Given the description of an element on the screen output the (x, y) to click on. 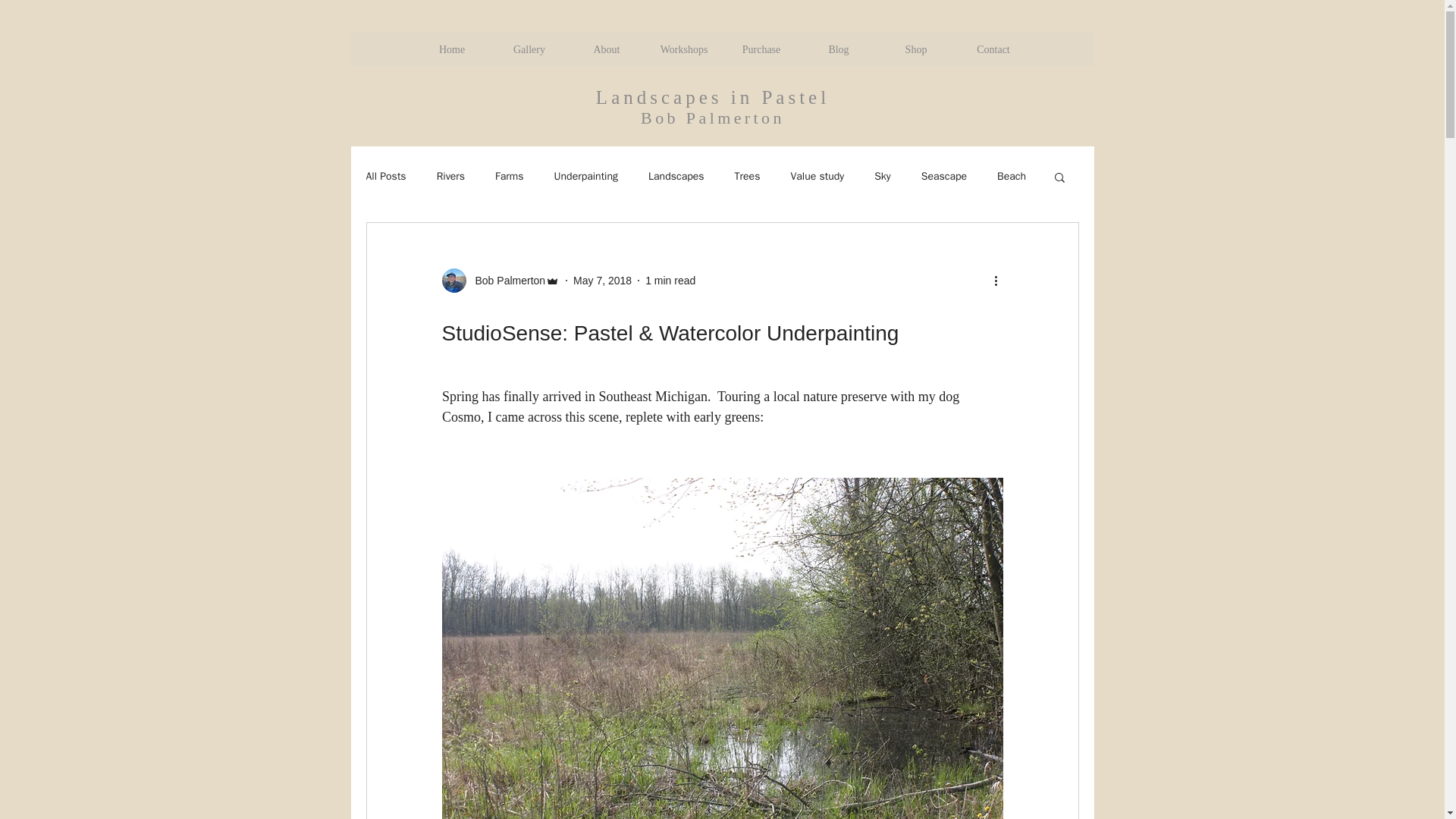
Shop (914, 49)
Sky (883, 176)
All Posts (385, 176)
Landscapes in Pastel (712, 96)
1 min read (670, 280)
Purchase (760, 49)
Landscapes (675, 176)
Home (450, 49)
May 7, 2018 (602, 280)
Contact (991, 49)
Trees (747, 176)
Bob Palmerton (504, 280)
Gallery (528, 49)
Beach (1011, 176)
Value study (817, 176)
